Given the description of an element on the screen output the (x, y) to click on. 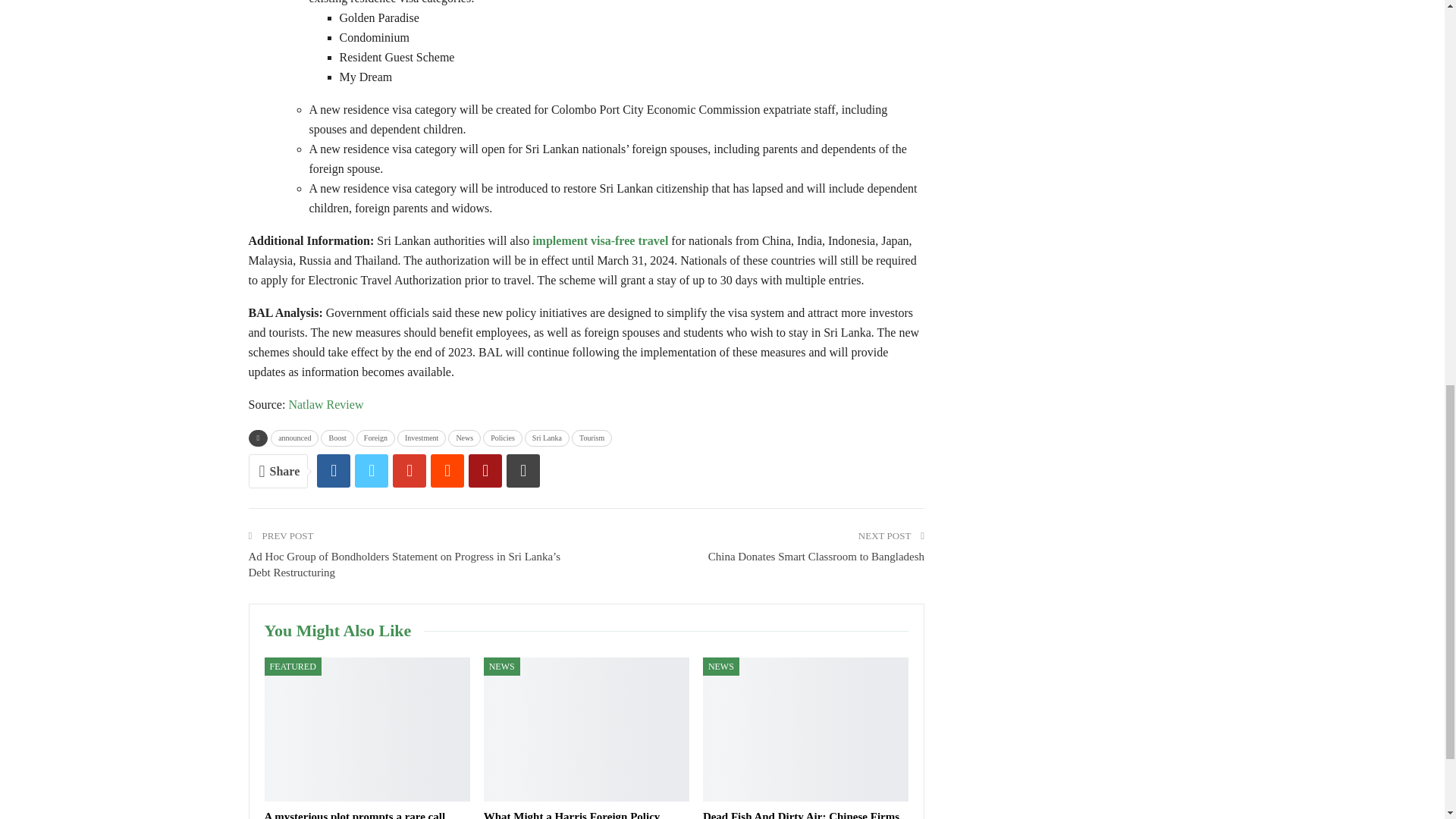
What Might a Harris Foreign Policy Bring? (572, 814)
What Might a Harris Foreign Policy Bring? (585, 729)
